Given the description of an element on the screen output the (x, y) to click on. 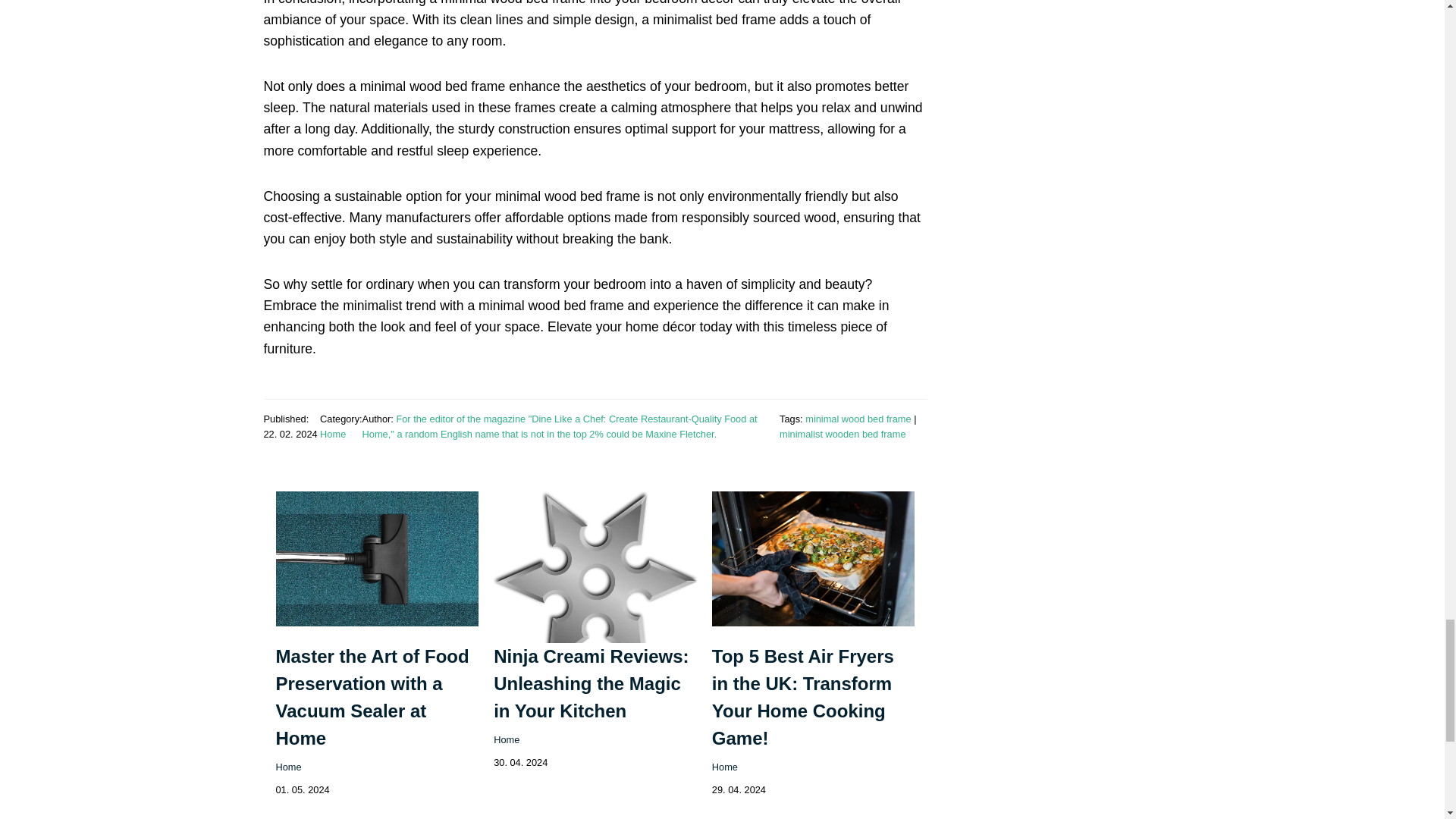
Home (333, 433)
minimalist wooden bed frame (841, 433)
Home (506, 739)
Home (724, 767)
minimal wood bed frame (858, 419)
Home (288, 767)
Ninja Creami Reviews: Unleashing the Magic in Your Kitchen (590, 683)
